Given the description of an element on the screen output the (x, y) to click on. 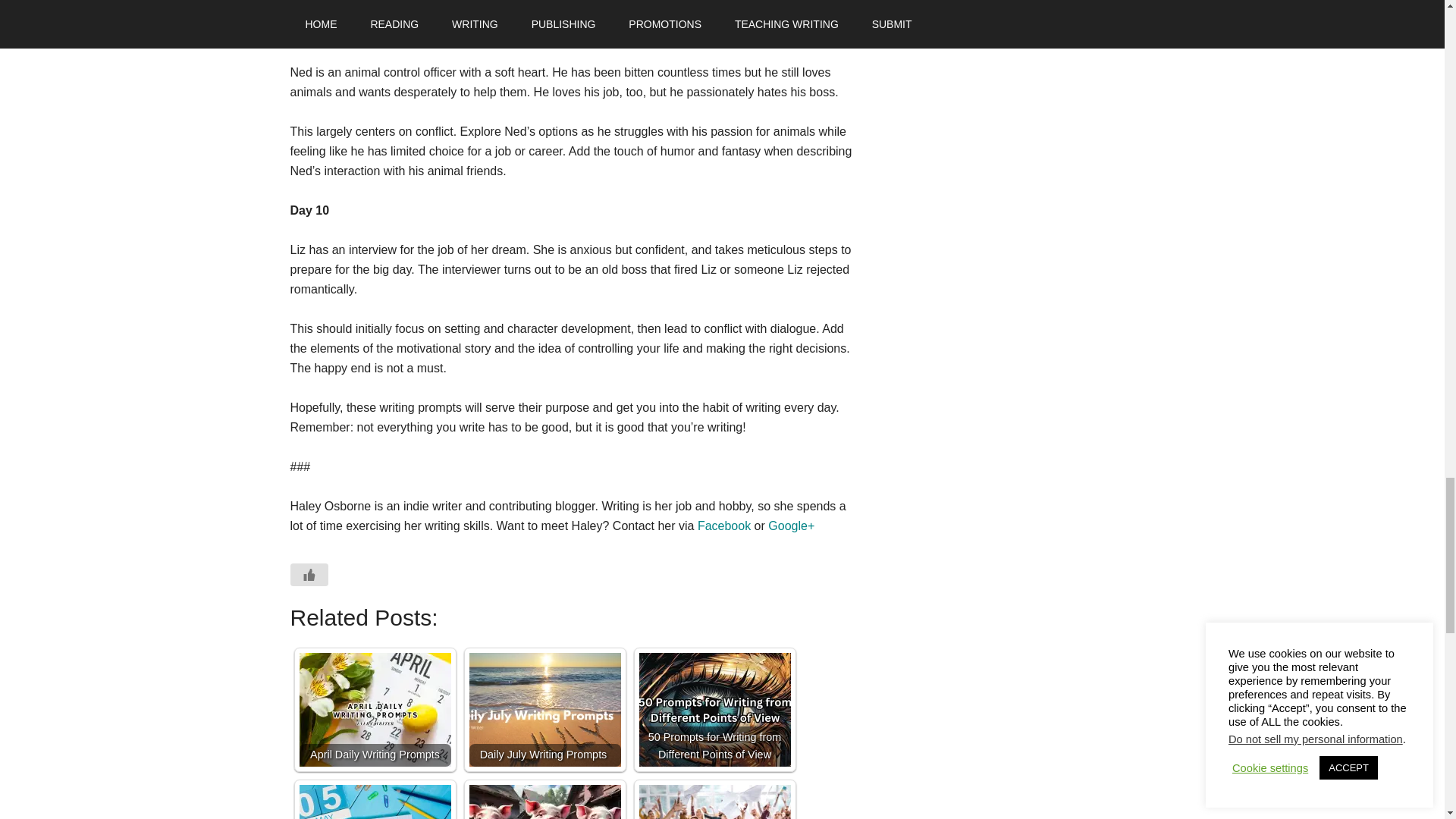
50 Prompts for Writing from Different Points of View (714, 709)
April Daily Writing Prompts (373, 709)
100 "Twist on a Classic" writing prompts (544, 801)
100 end-of-the-year writing prompts (714, 801)
Daily Writing Prompts for May (373, 801)
